Given the description of an element on the screen output the (x, y) to click on. 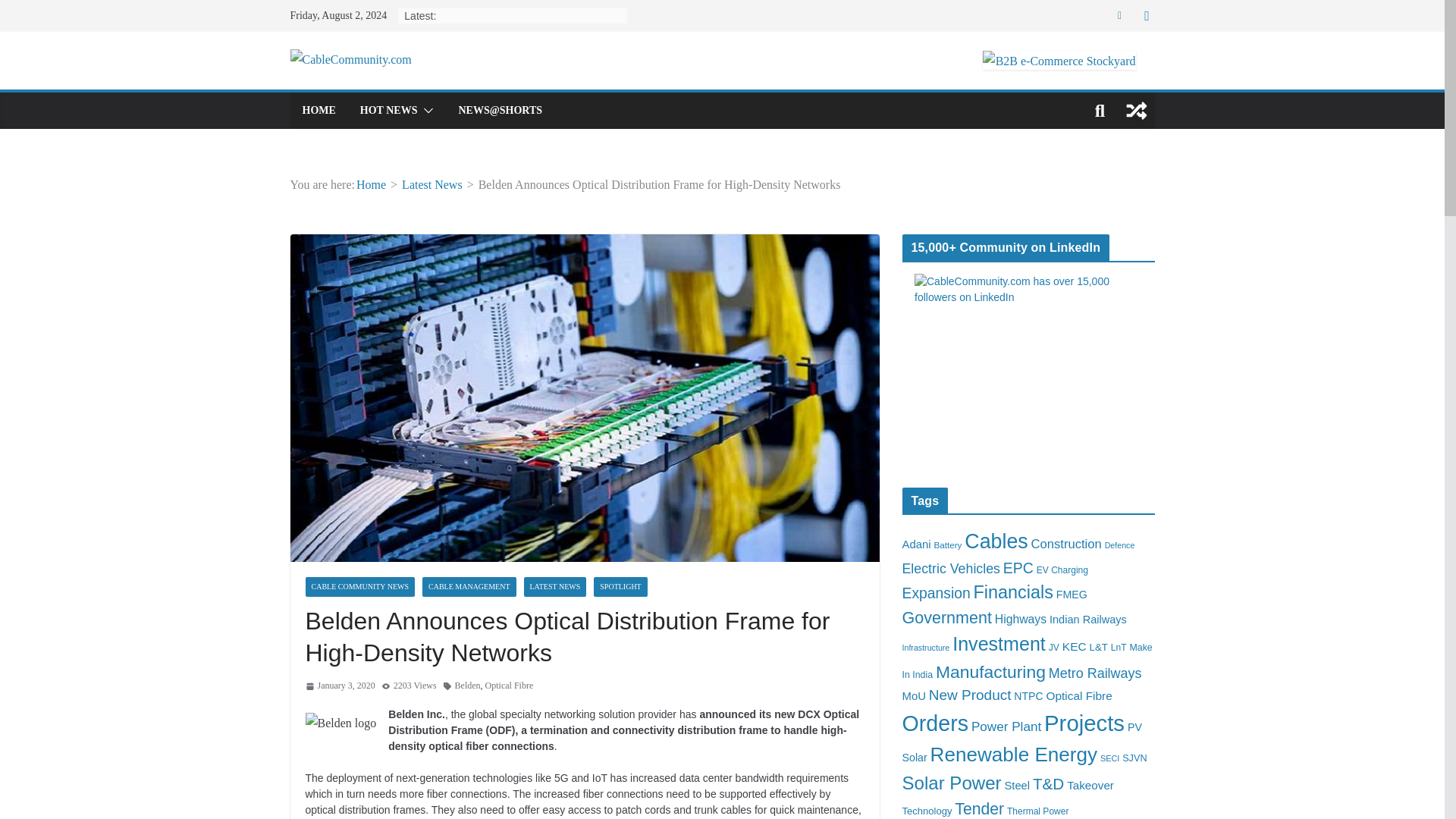
Optical Fibre (509, 686)
Home (370, 184)
LATEST NEWS (555, 587)
11:02 am (339, 686)
HOT NEWS (388, 110)
CABLE MANAGEMENT (469, 587)
Latest News (432, 184)
January 3, 2020 (339, 686)
SPOTLIGHT (620, 587)
View a random post (1136, 110)
HOME (317, 110)
CABLE COMMUNITY NEWS (359, 587)
Belden (467, 686)
